Given the description of an element on the screen output the (x, y) to click on. 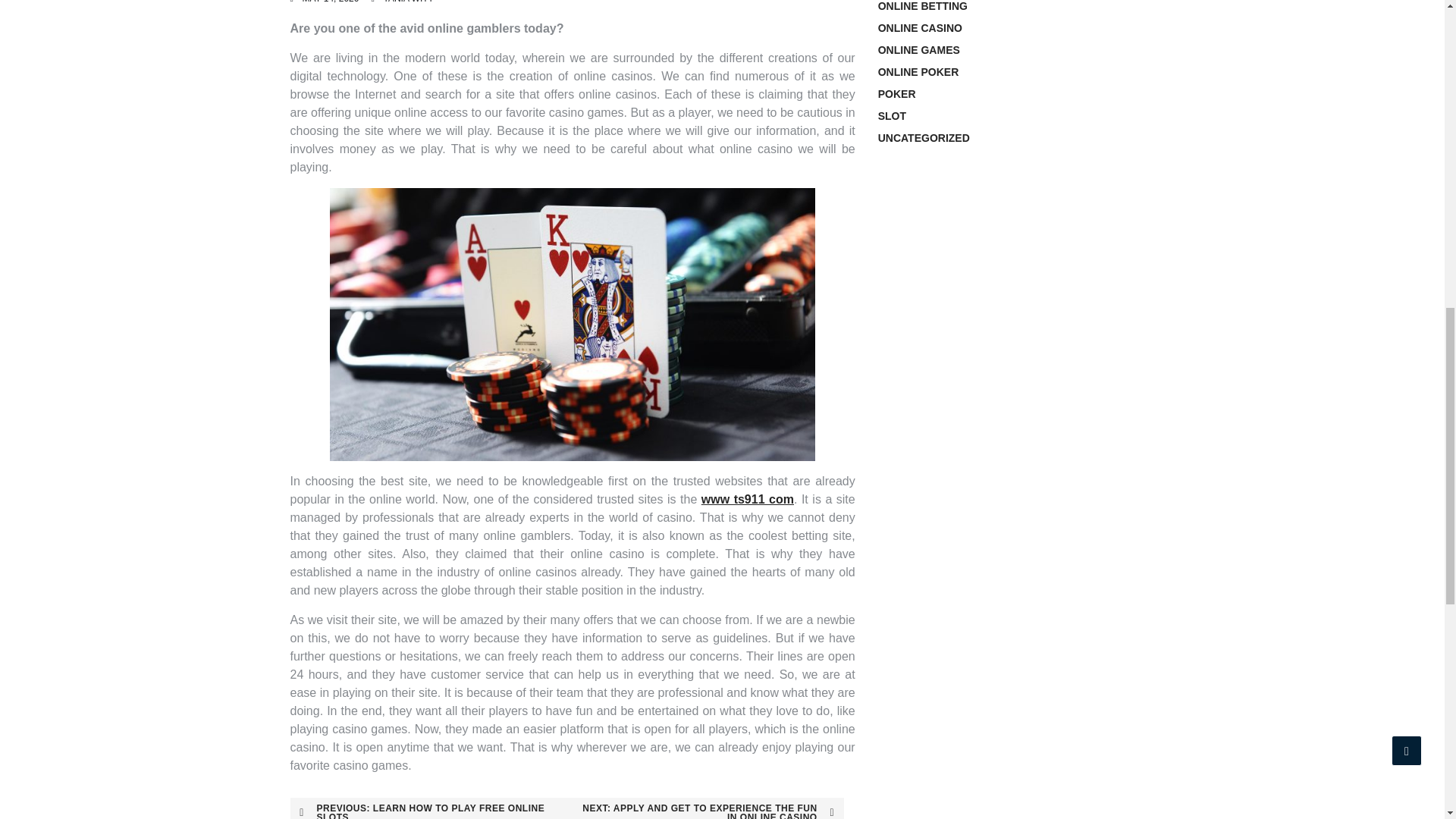
PREVIOUS: LEARN HOW TO PLAY FREE ONLINE SLOTS (427, 808)
MAY 14, 2020 (329, 2)
www ts911 com (747, 499)
NEXT: APPLY AND GET TO EXPERIENCE THE FUN IN ONLINE CASINO (705, 808)
TANIA WITT (407, 2)
ONLINE BETTING (922, 5)
